Given the description of an element on the screen output the (x, y) to click on. 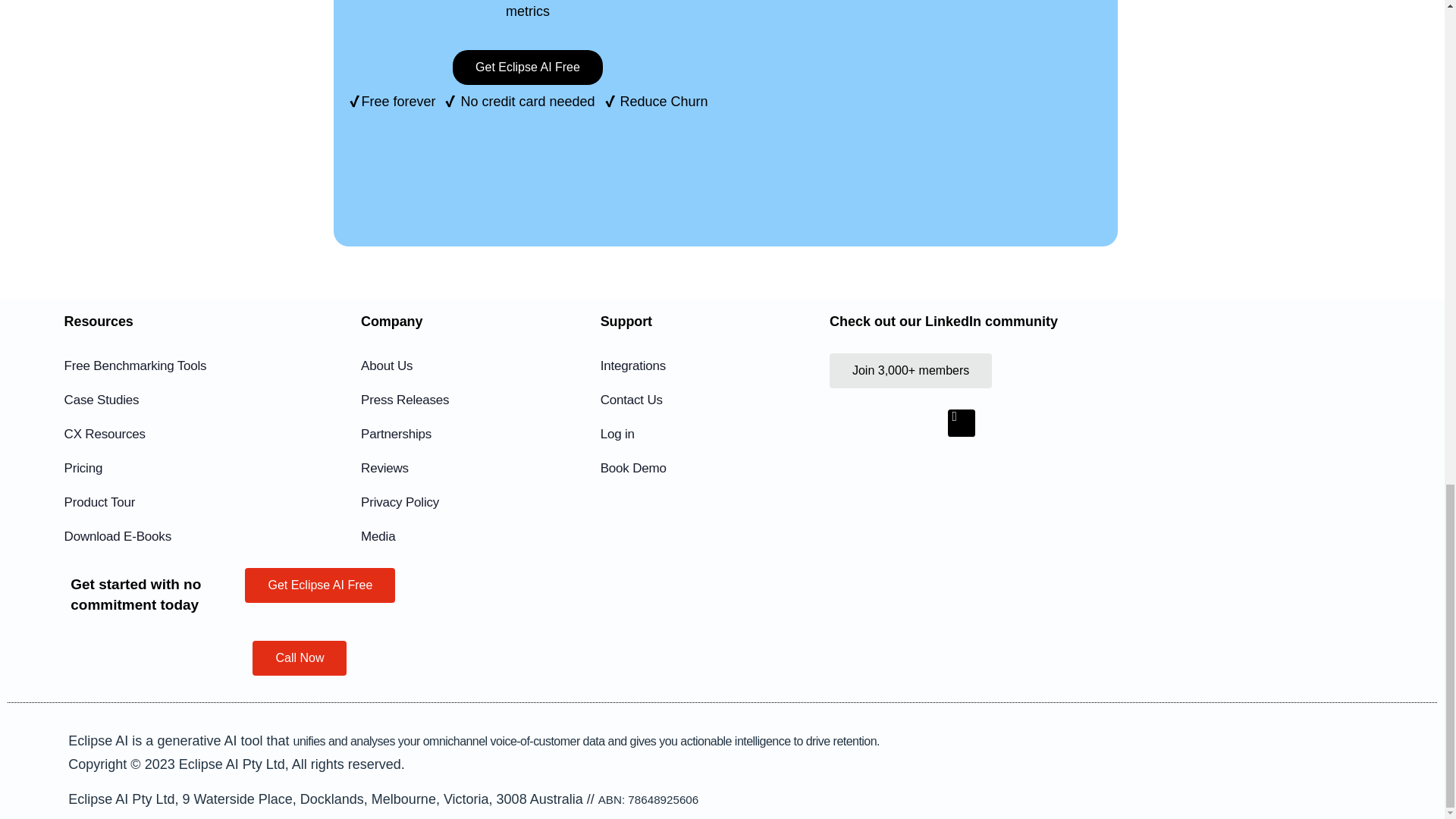
CX Resources (191, 434)
Press Releases (476, 400)
Pricing (191, 468)
Product Tour (191, 502)
Download E-Books (191, 536)
Case Studies (191, 400)
About Us (476, 365)
Get Eclipse AI Free (527, 67)
Free Benchmarking Tools (191, 365)
